Given the description of an element on the screen output the (x, y) to click on. 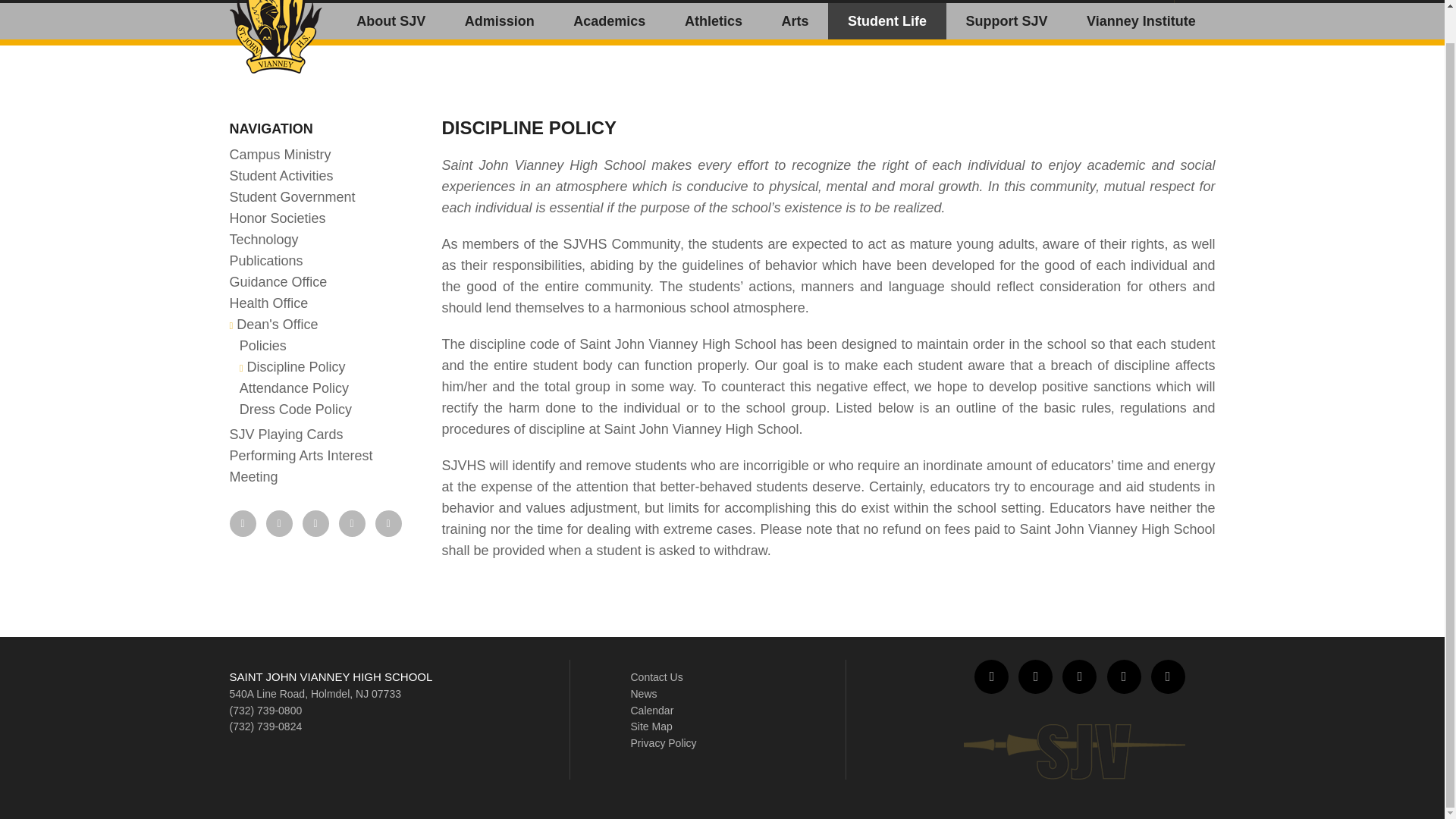
Admission (499, 21)
Powered by Finalsite opens in a new window (721, 808)
About SJV (390, 21)
